Given the description of an element on the screen output the (x, y) to click on. 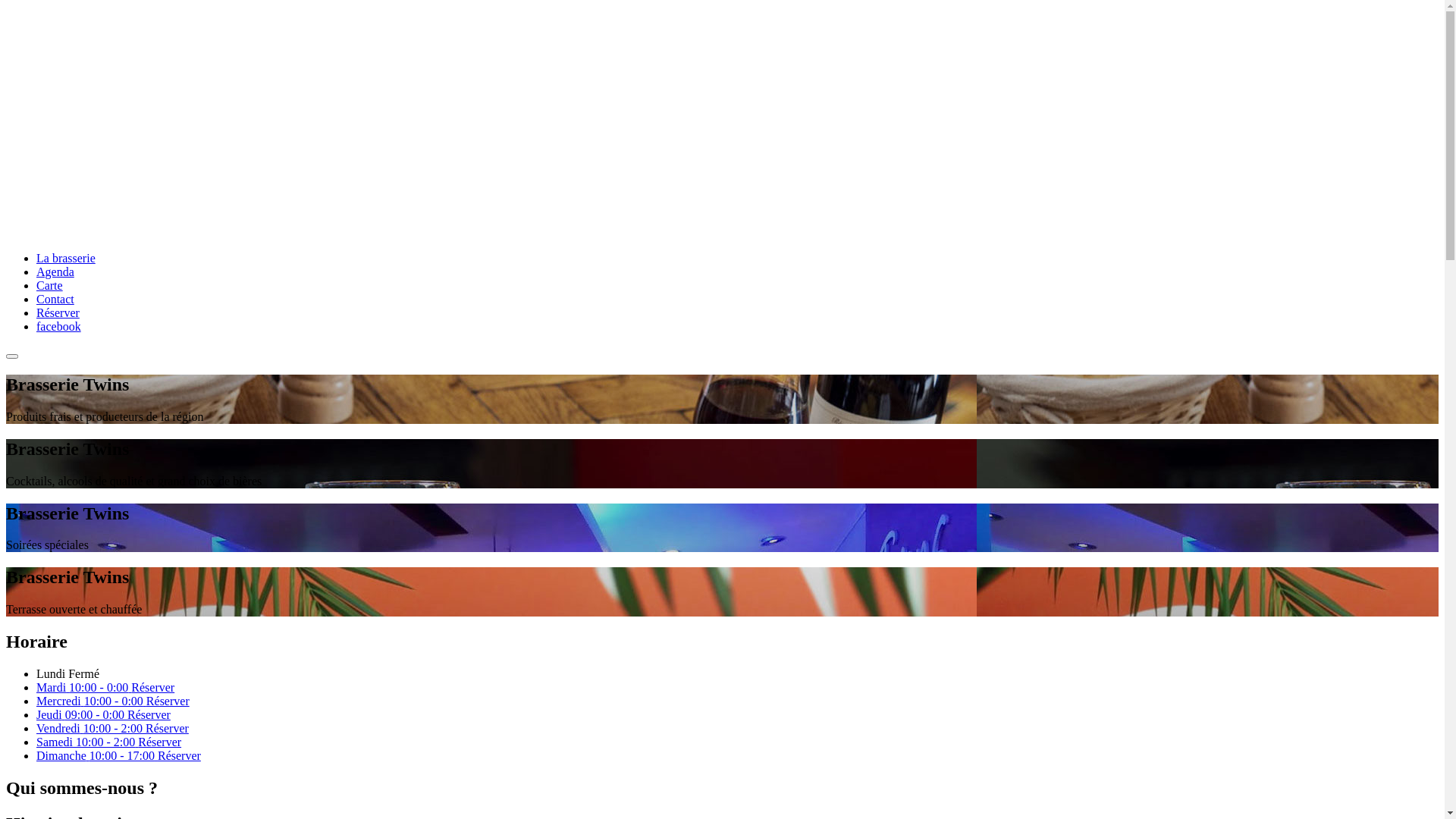
Agenda Element type: text (55, 271)
Carte Element type: text (49, 285)
La brasserie Element type: text (65, 257)
facebook Element type: text (58, 326)
Contact Element type: text (55, 298)
